Given the description of an element on the screen output the (x, y) to click on. 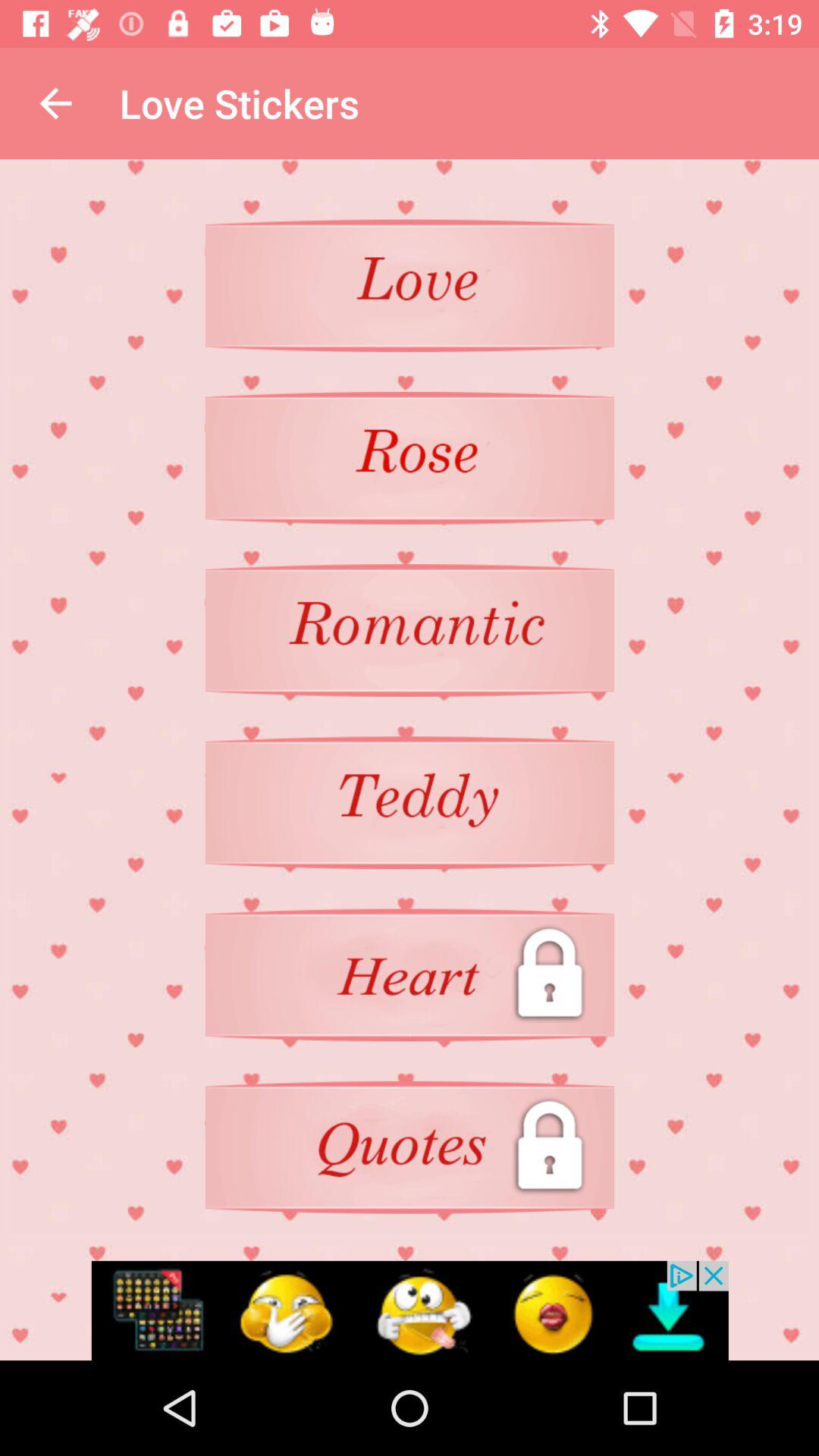
see quotes (409, 1147)
